Given the description of an element on the screen output the (x, y) to click on. 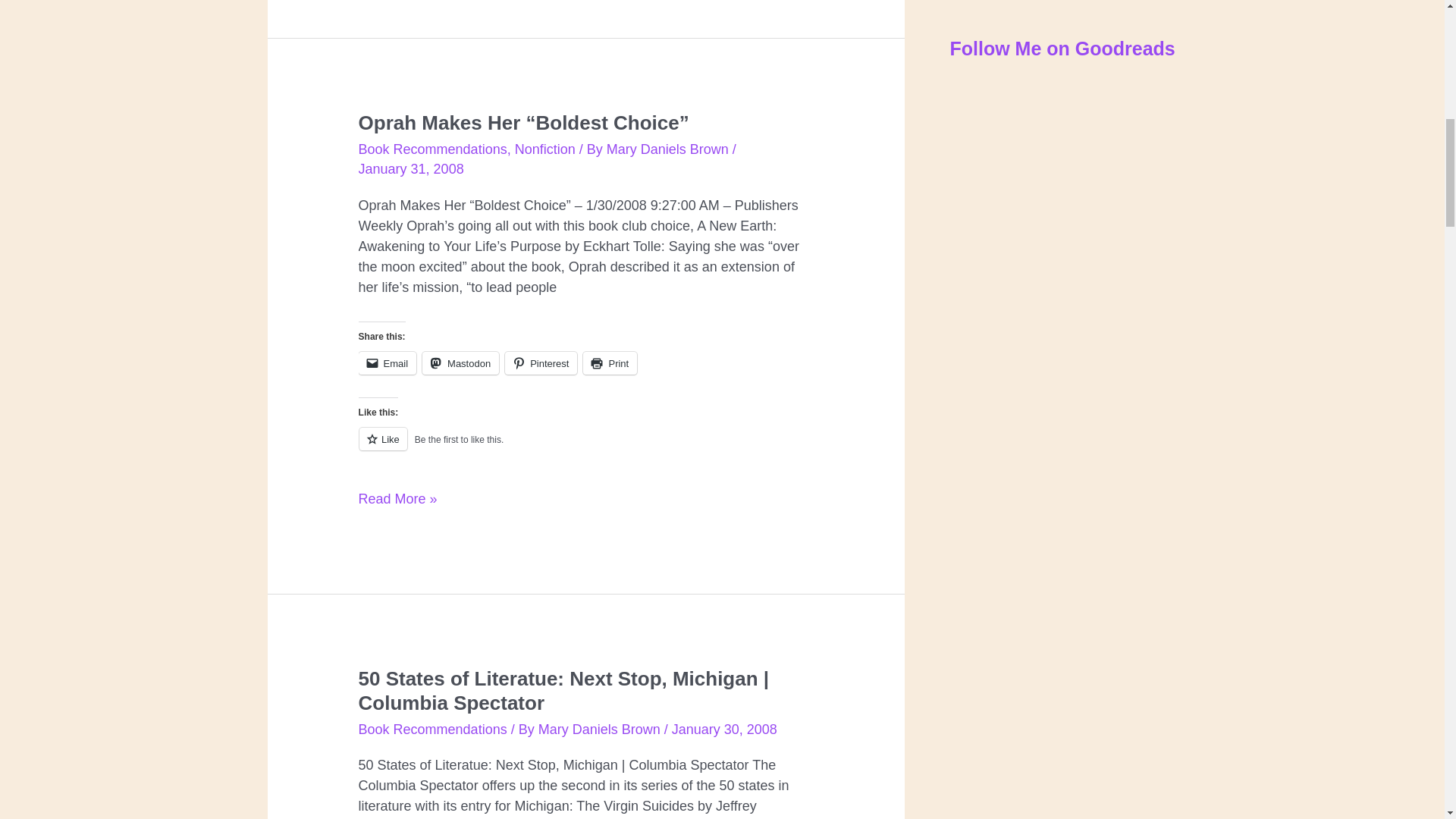
Click to email a link to a friend (387, 363)
Click to print (610, 363)
Like or Reblog (585, 447)
View all posts by Mary Daniels Brown (669, 149)
View all posts by Mary Daniels Brown (600, 729)
Click to share on Mastodon (460, 363)
Click to share on Pinterest (540, 363)
